Given the description of an element on the screen output the (x, y) to click on. 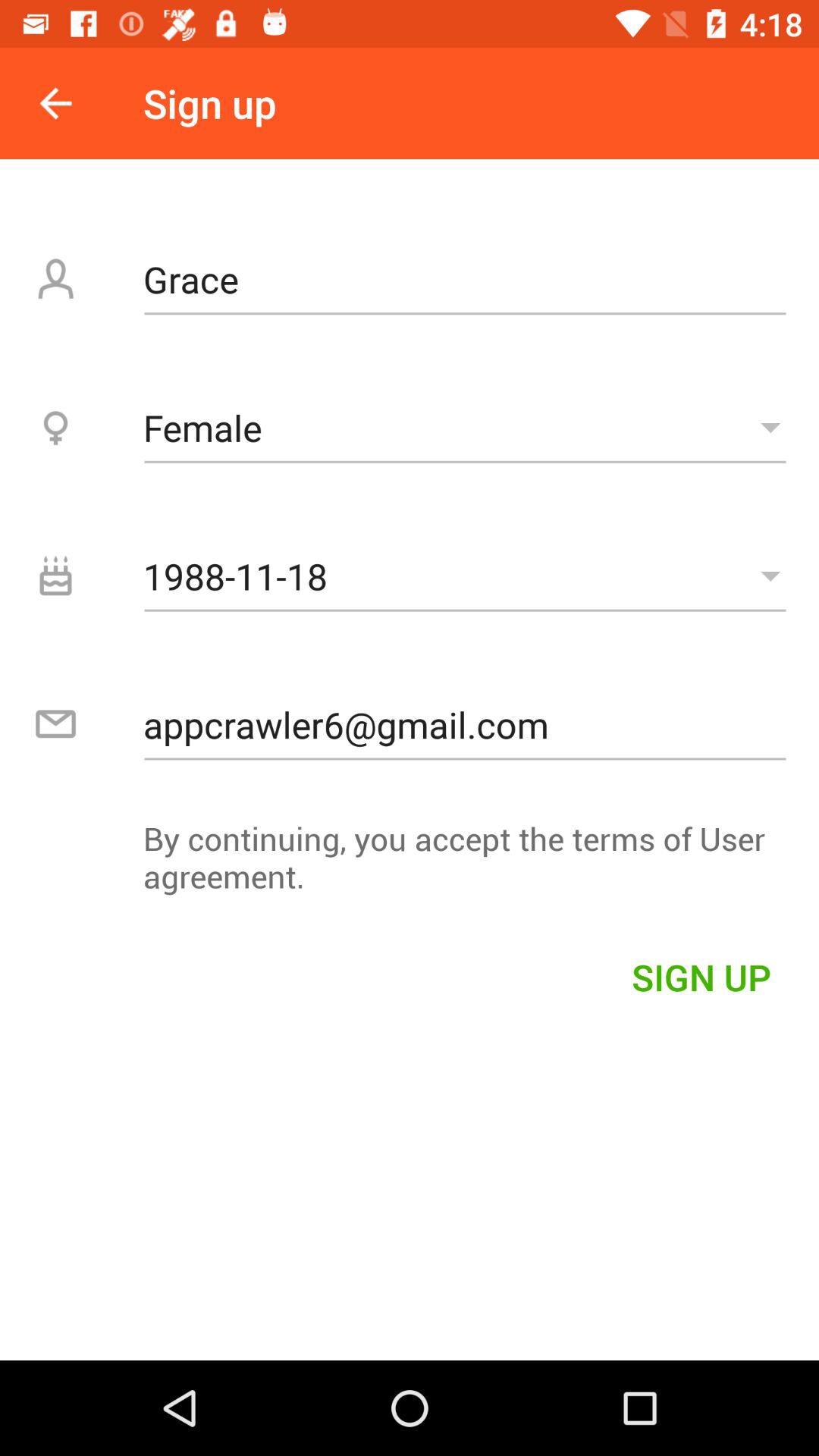
open grace item (465, 278)
